Given the description of an element on the screen output the (x, y) to click on. 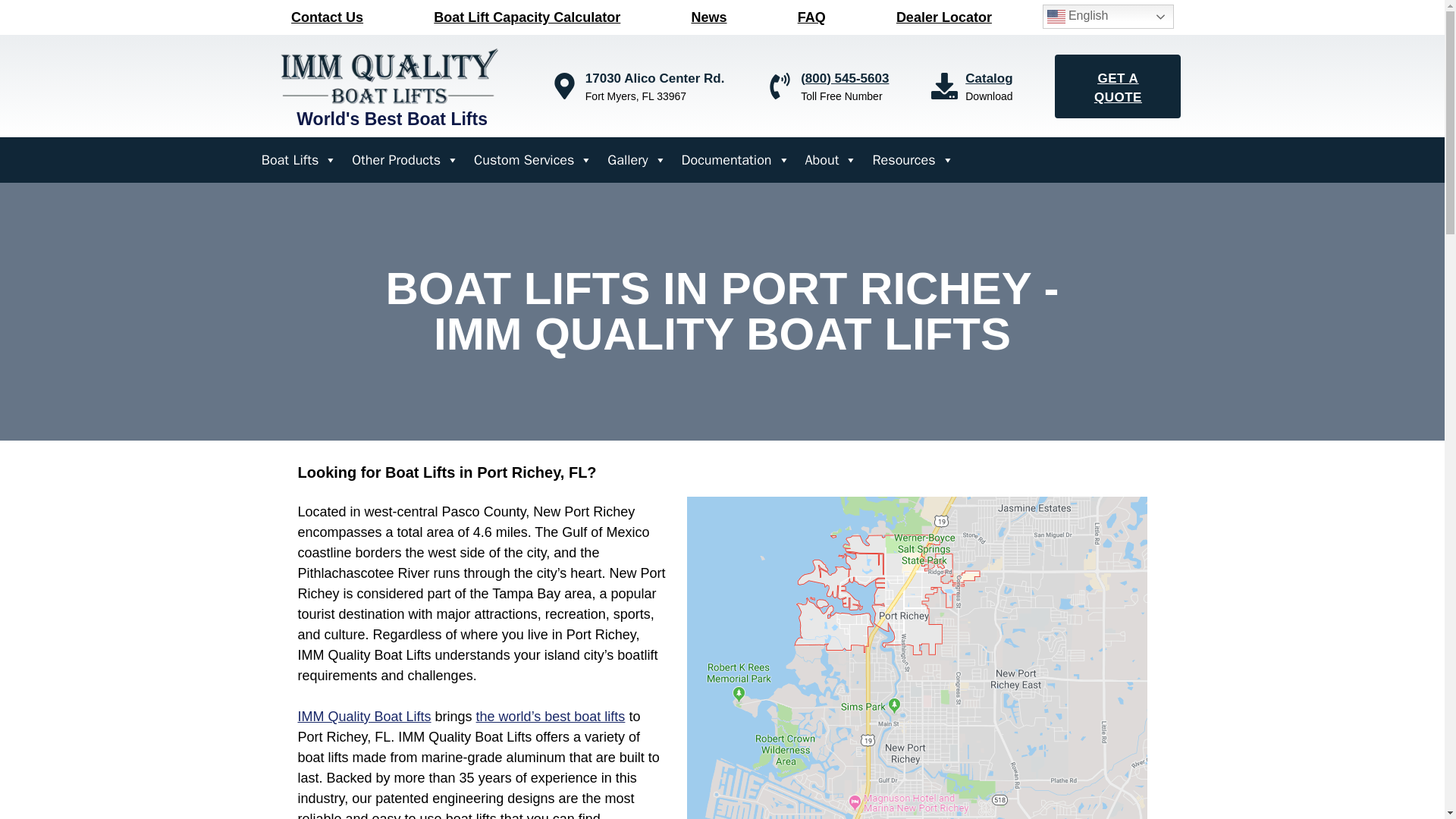
News (708, 17)
GET A QUOTE (1117, 85)
Boat Lift Capacity Calculator (527, 17)
English (1107, 16)
Catalog (988, 78)
Contact Us (327, 17)
Dealer Locator (943, 17)
Boat Lifts (299, 159)
FAQ (810, 17)
